Given the description of an element on the screen output the (x, y) to click on. 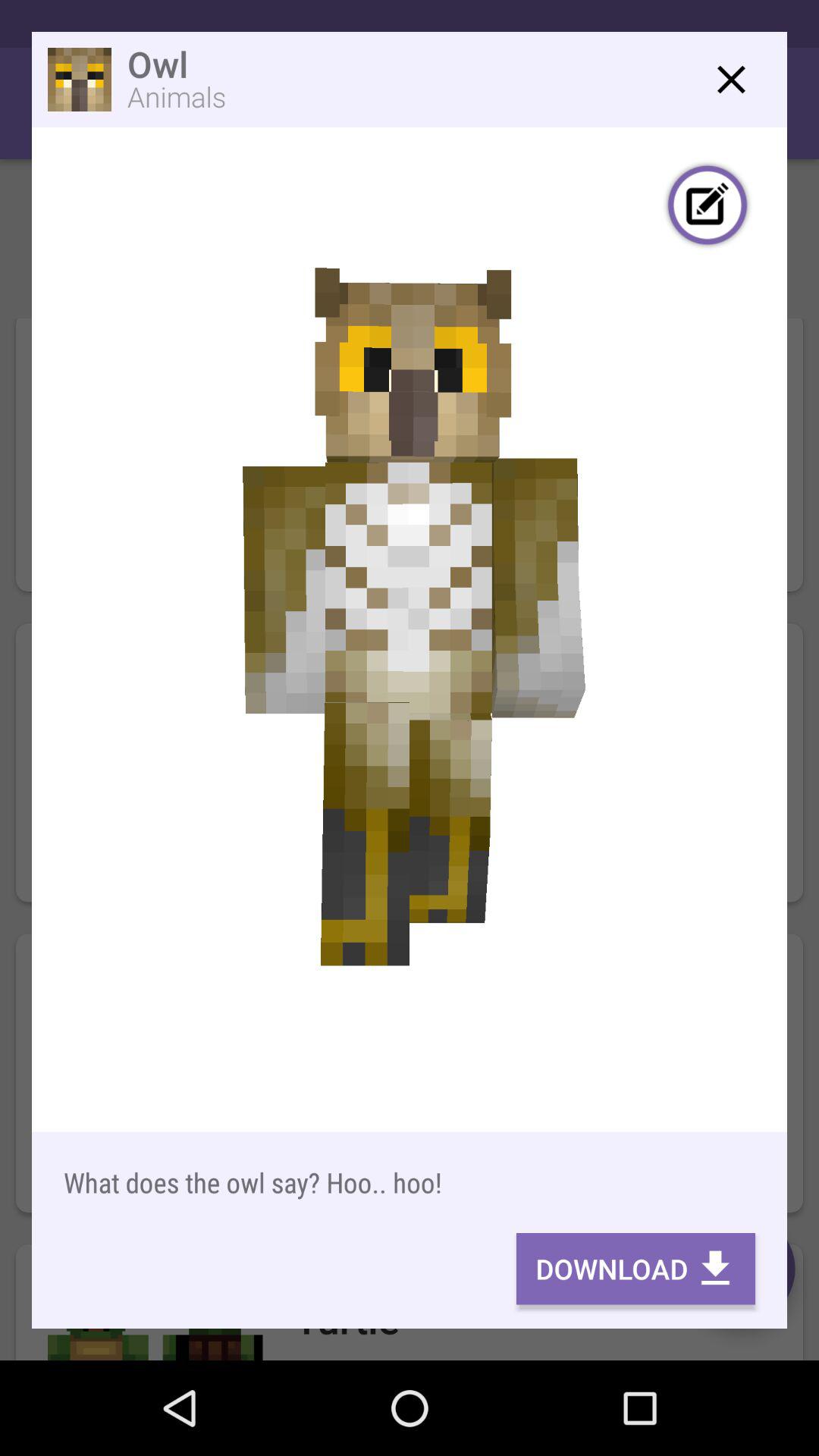
close box (731, 79)
